Given the description of an element on the screen output the (x, y) to click on. 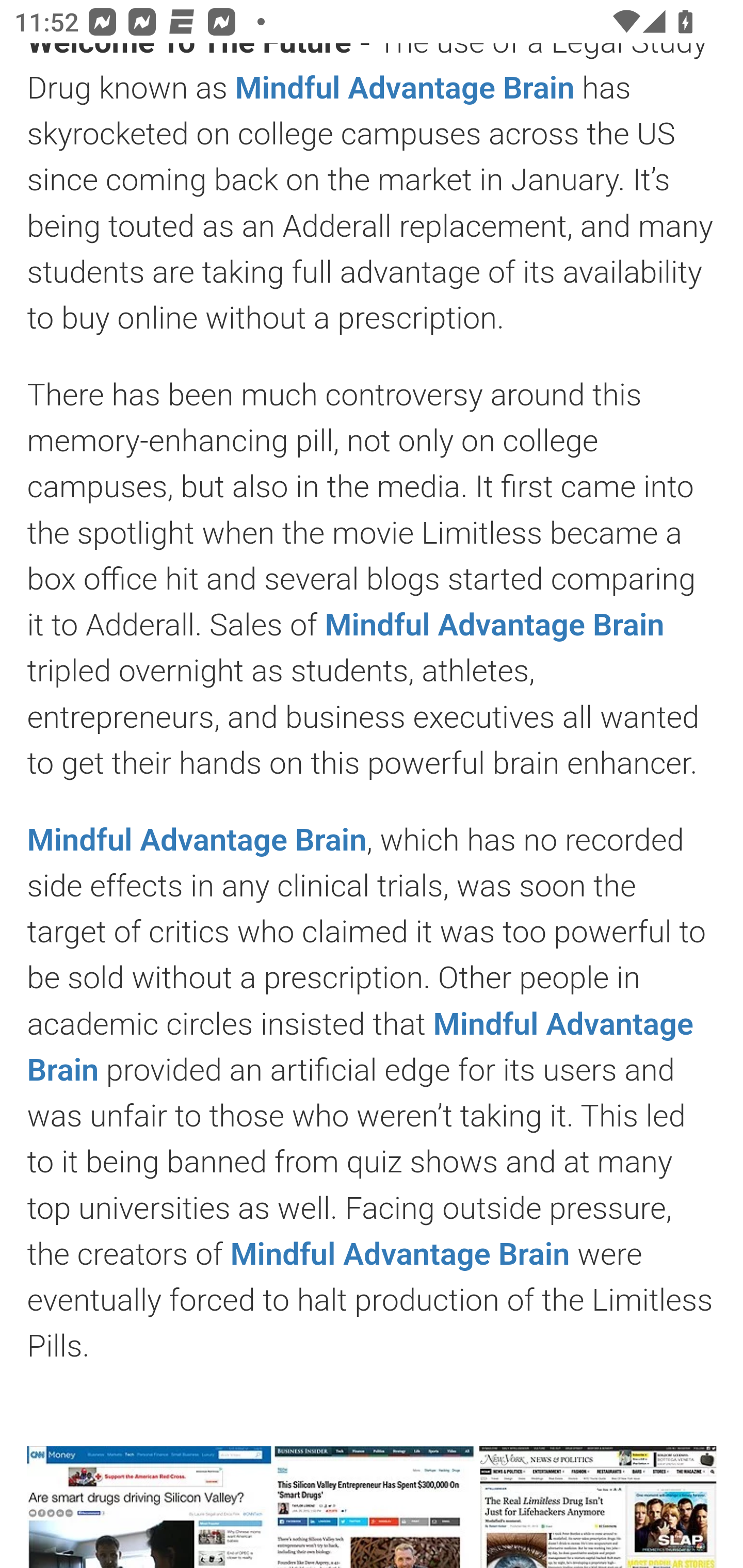
click me Mindful Advantage Brain (404, 88)
click me Mindful Advantage Brain (494, 625)
click me Mindful Advantage Brain (196, 840)
click me Mindful Advantage Brain (359, 1046)
click me Mindful Advantage Brain (399, 1254)
click me Untitled: articlessmart (371, 1506)
